Given the description of an element on the screen output the (x, y) to click on. 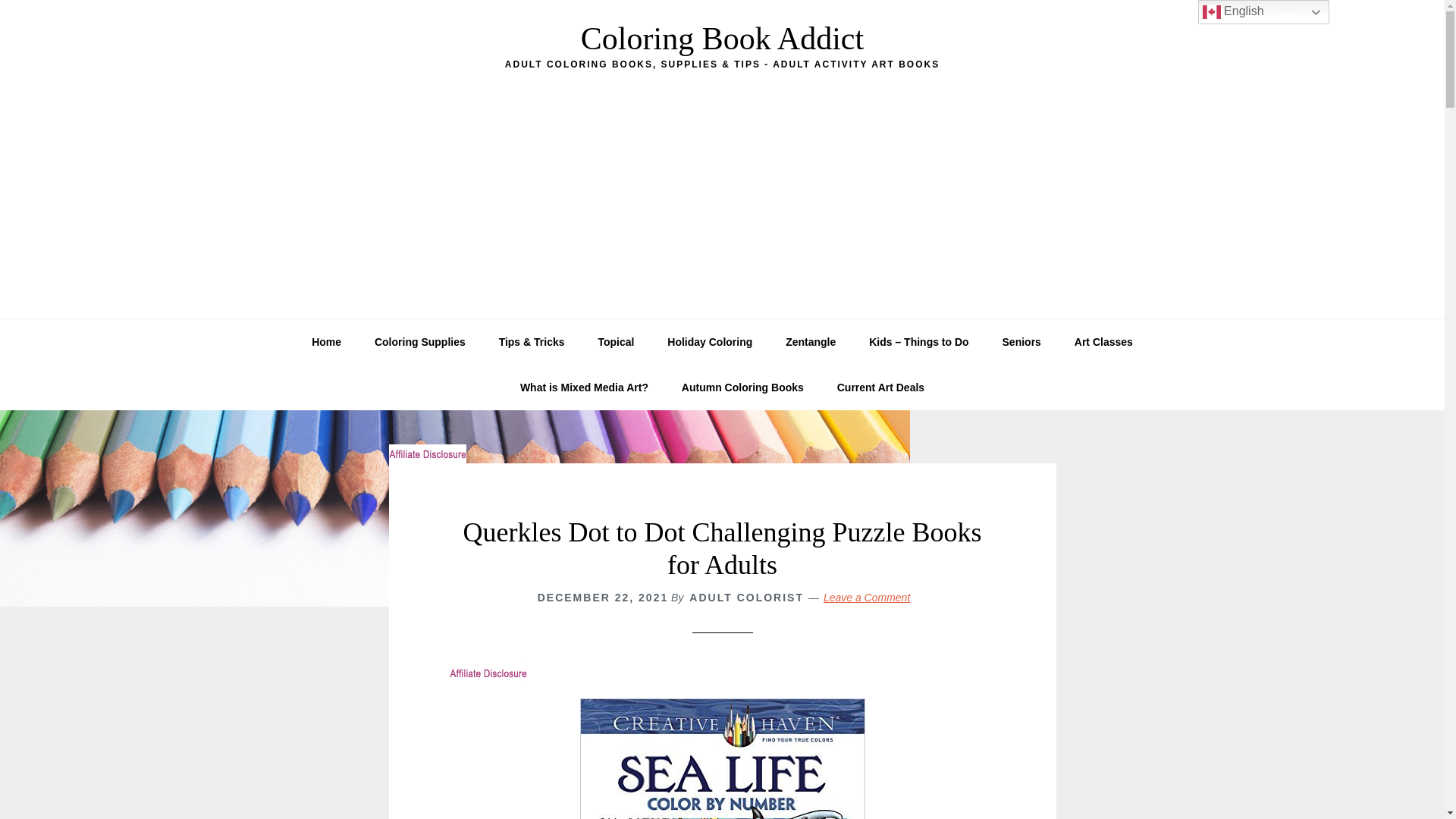
Topical (615, 341)
Coloring Book Addict (721, 38)
Home (326, 341)
Coloring Supplies (419, 341)
